Given the description of an element on the screen output the (x, y) to click on. 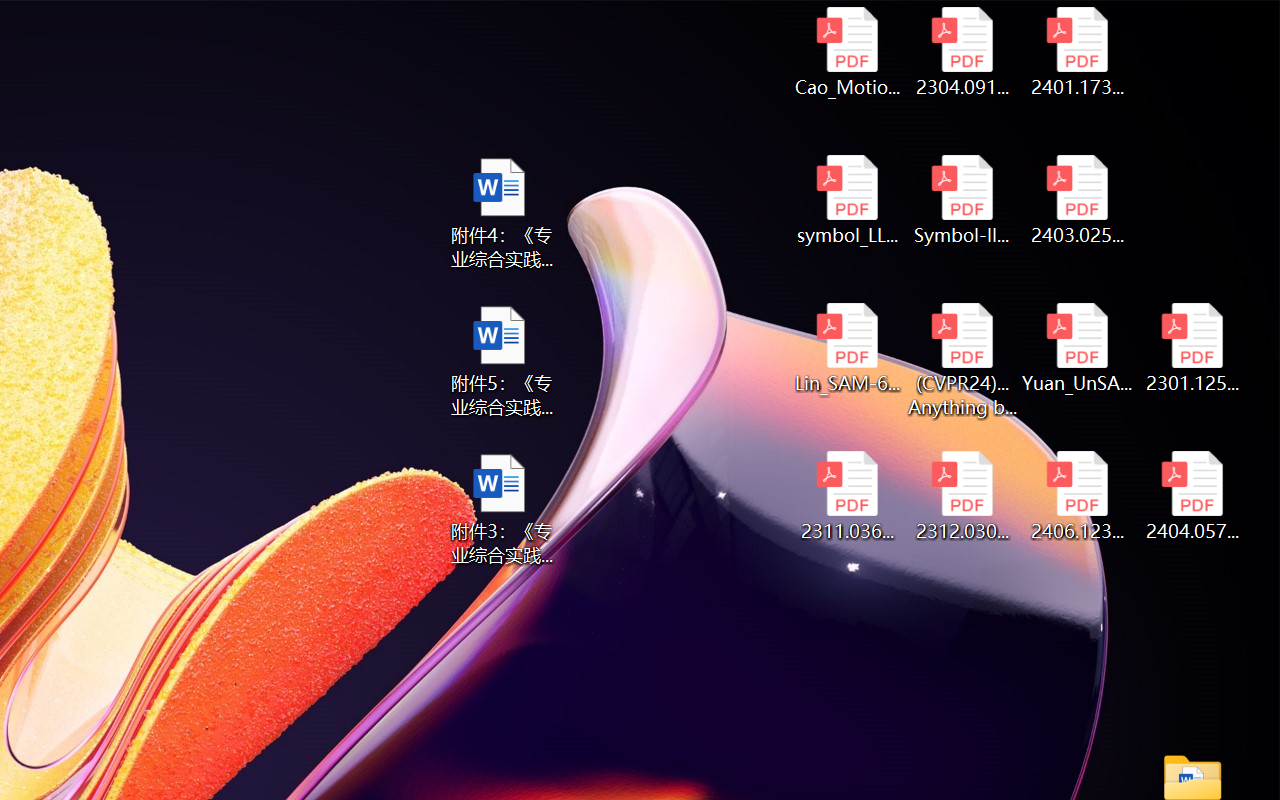
Symbol-llm-v2.pdf (962, 200)
2304.09121v3.pdf (962, 52)
